Given the description of an element on the screen output the (x, y) to click on. 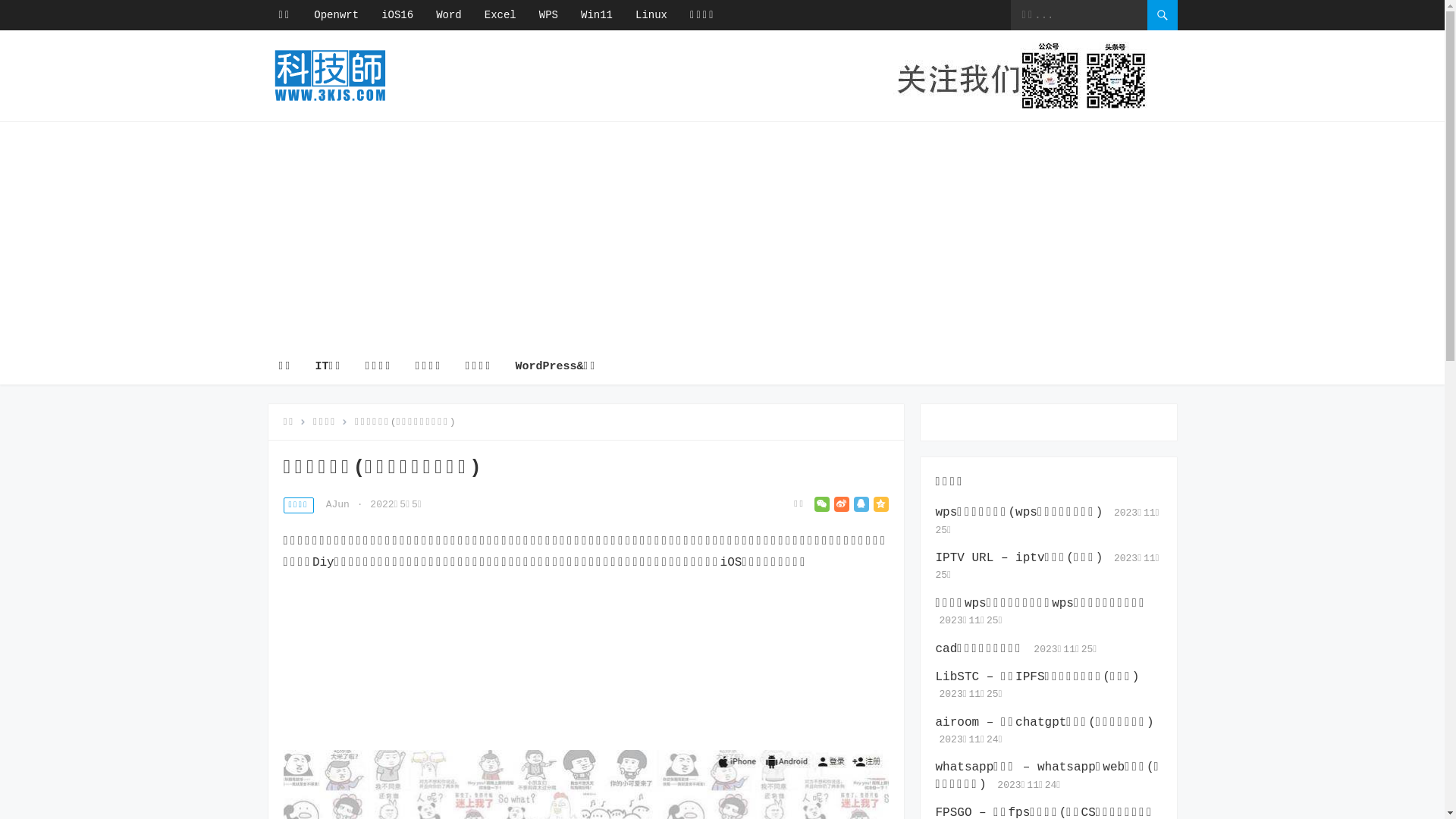
AJun Element type: text (337, 504)
Advertisement Element type: hover (721, 235)
Advertisement Element type: hover (585, 667)
iOS16 Element type: text (397, 15)
Excel Element type: text (500, 15)
Openwrt Element type: text (336, 15)
Linux Element type: text (651, 15)
Word Element type: text (448, 15)
Win11 Element type: text (596, 15)
WPS Element type: text (548, 15)
